Given the description of an element on the screen output the (x, y) to click on. 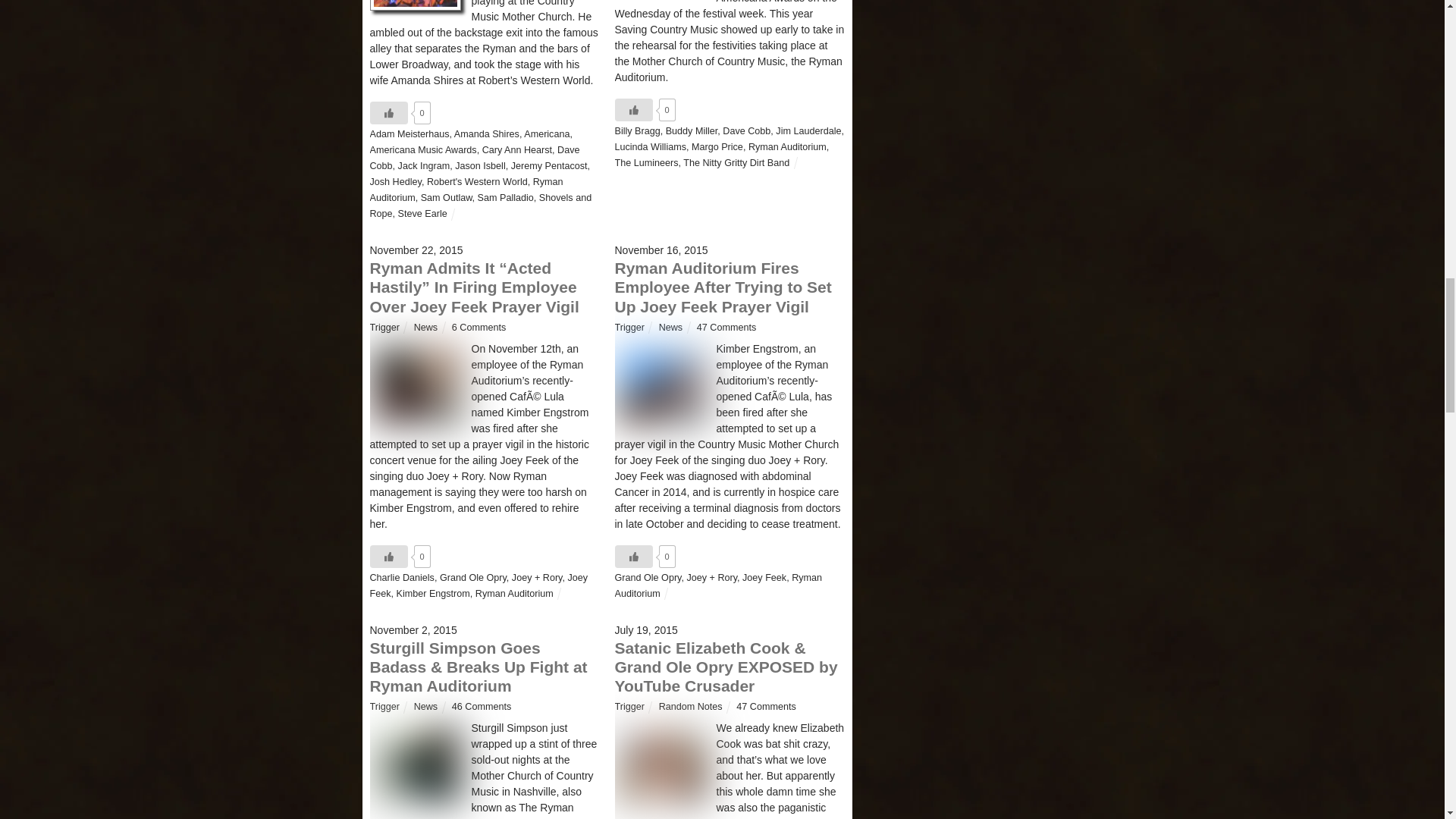
the-ryman-auditorium (415, 383)
elizabeth-cook-2 (659, 762)
sturgill simpson 001 (415, 762)
jason-isbell-amanda-shires-roberts-western-world (415, 5)
the-ryman (659, 383)
